Given the description of an element on the screen output the (x, y) to click on. 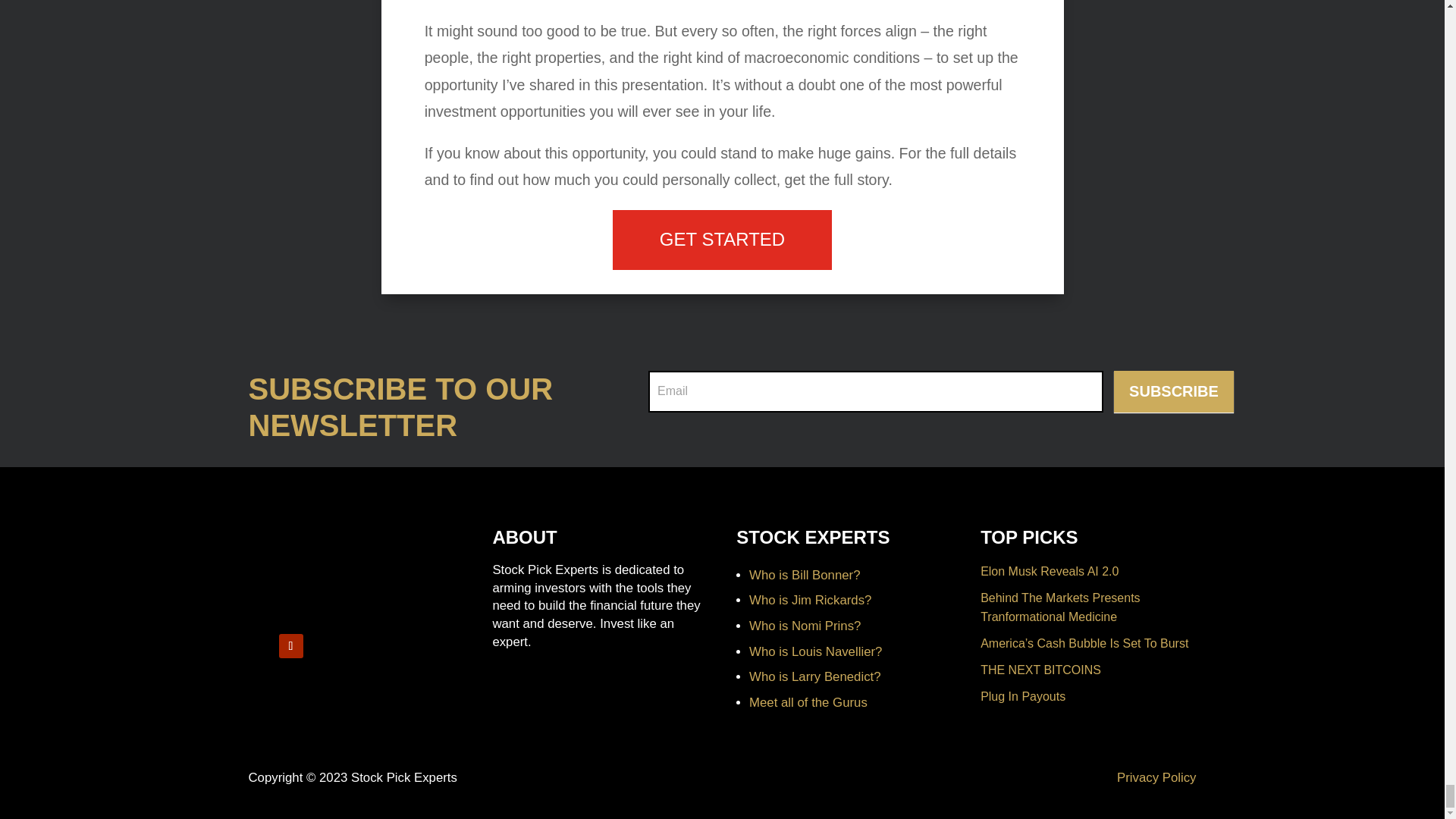
Follow on Youtube (290, 645)
SPE-icon (293, 573)
